Given the description of an element on the screen output the (x, y) to click on. 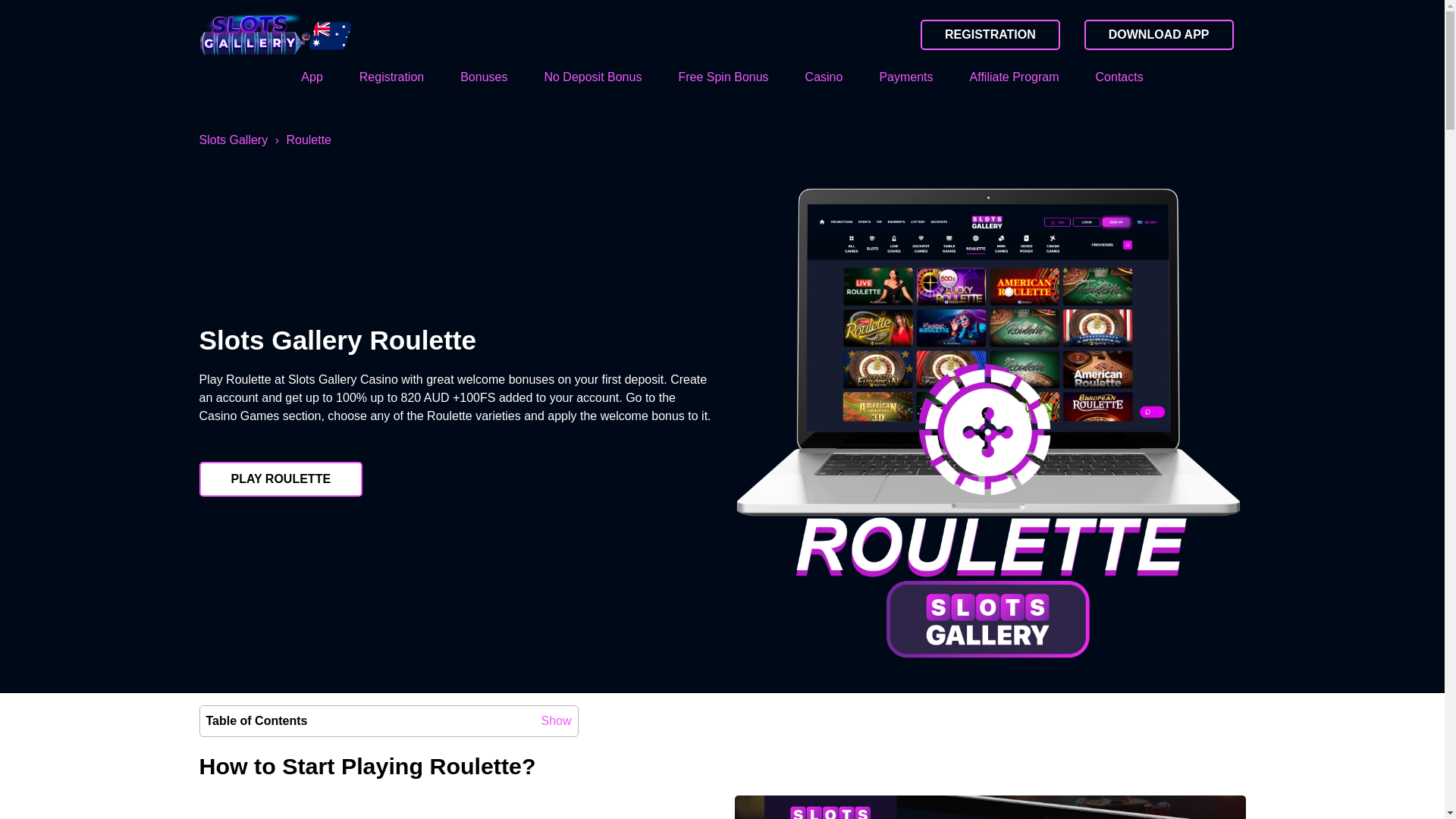
App (311, 76)
Contacts (1119, 76)
Bonuses (483, 76)
Registration (391, 76)
Roulette (308, 140)
Show (555, 721)
Slots Gallery (232, 140)
REGISTRATION (989, 34)
No Deposit Bonus (592, 76)
Casino (824, 76)
Free Spin Bonus (722, 76)
Affiliate Program (1014, 76)
PLAY ROULETTE (280, 478)
Payments (905, 76)
DOWNLOAD APP (1158, 34)
